Given the description of an element on the screen output the (x, y) to click on. 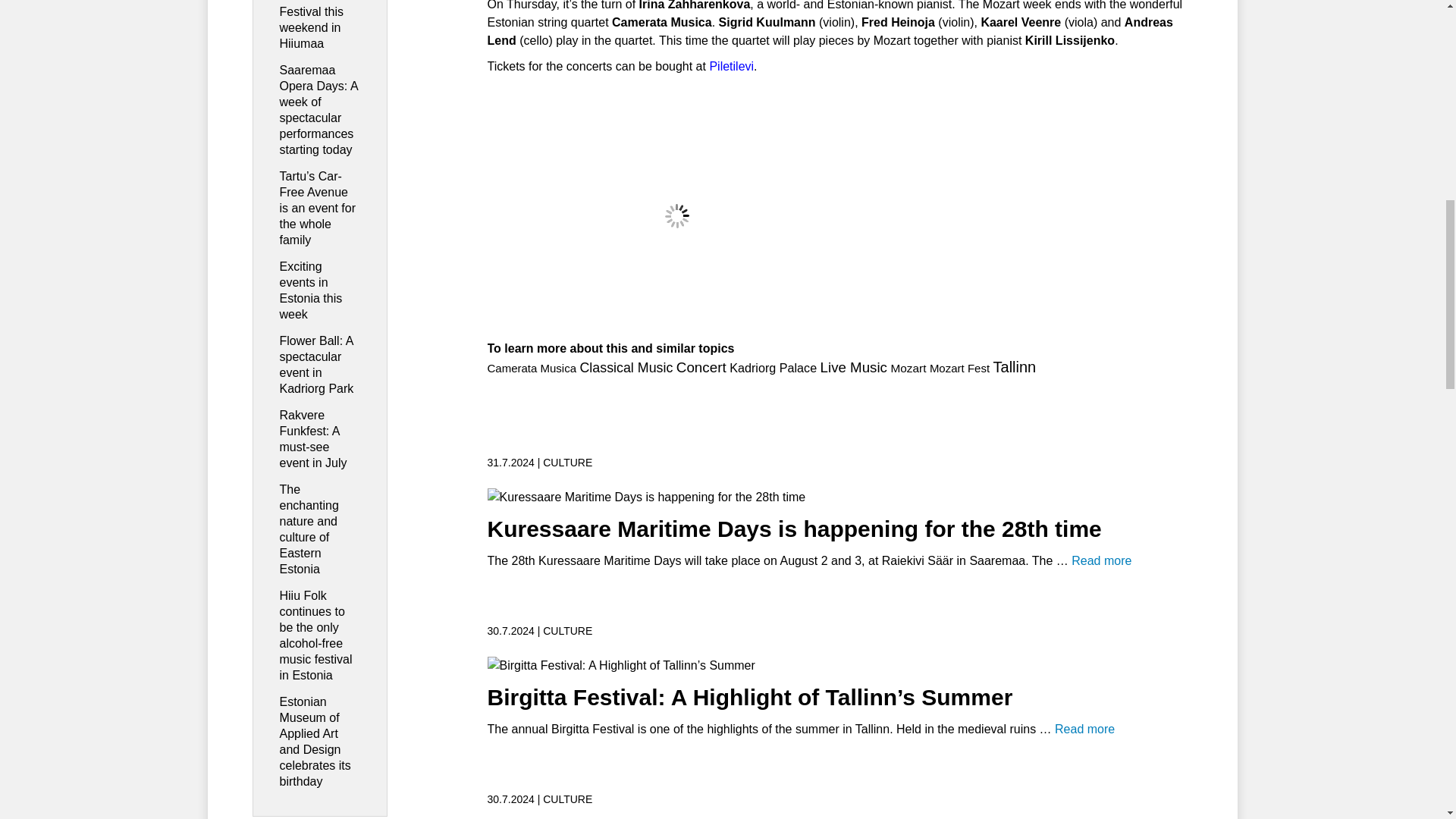
Flower Ball: A spectacular event in Kadriorg Park (316, 364)
Exciting events in Estonia this week (310, 290)
03 40sek 1920X1080 30fps hd (676, 215)
Saund Music Festival this weekend in Hiiumaa (314, 24)
